Given the description of an element on the screen output the (x, y) to click on. 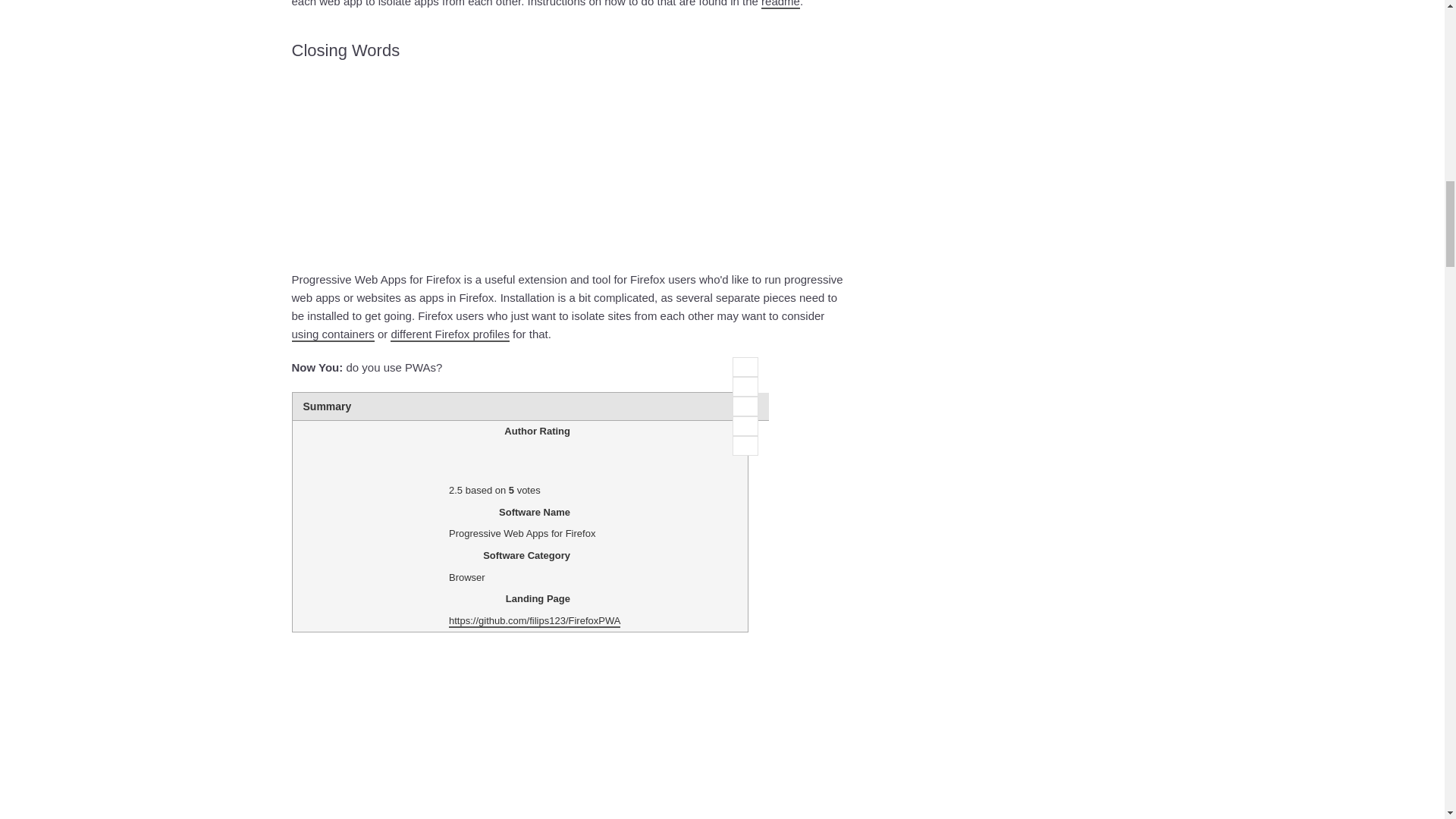
2 (745, 386)
5 (745, 445)
3 (745, 406)
4 (745, 425)
1 (745, 366)
